Given the description of an element on the screen output the (x, y) to click on. 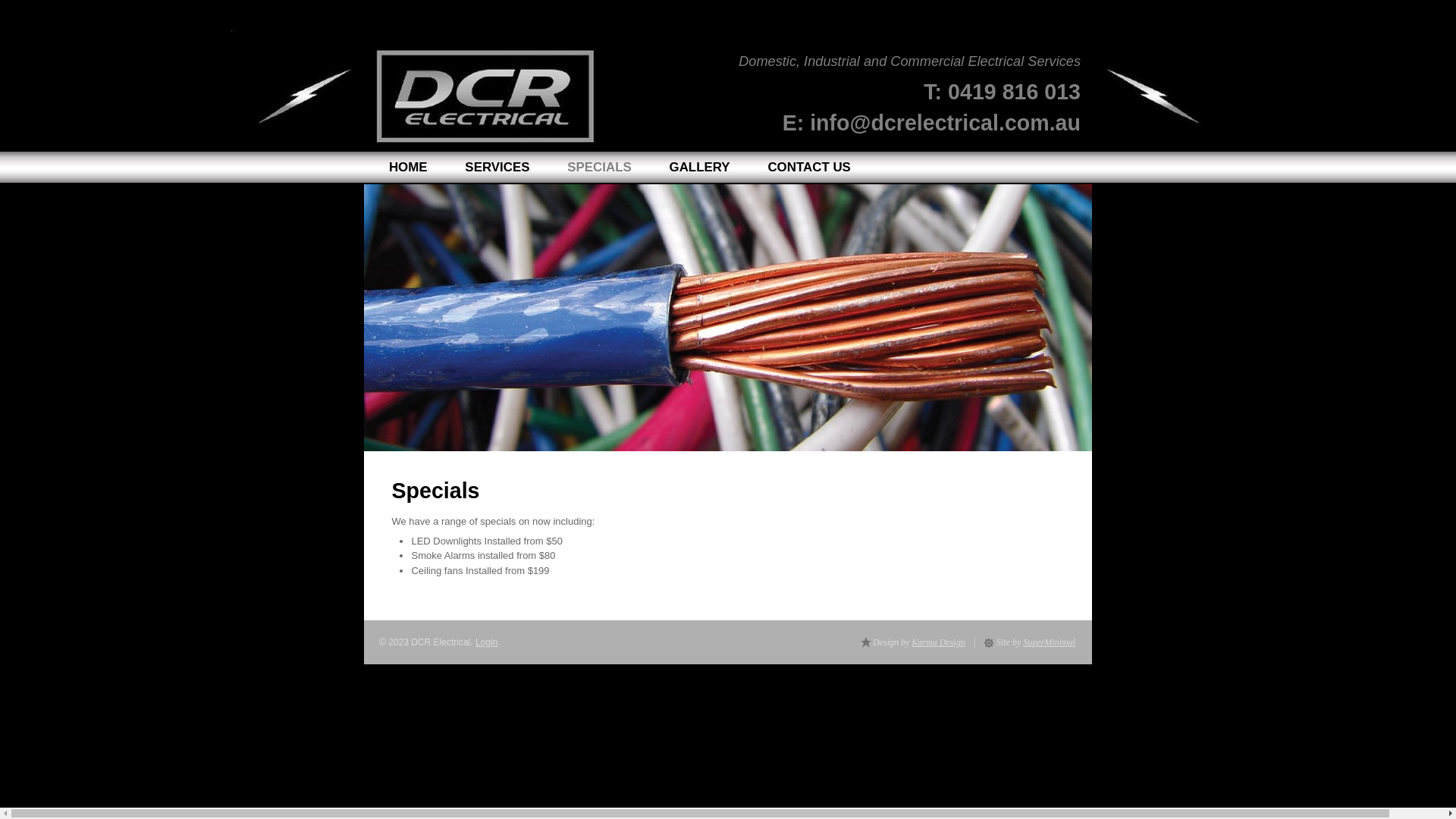
Login Element type: text (486, 642)
SPECIALS Element type: text (598, 166)
SERVICES Element type: text (496, 166)
Karma Design Element type: text (937, 642)
CONTACT US Element type: text (809, 166)
info@dcrelectrical.com.au Element type: text (944, 118)
GALLERY Element type: text (699, 166)
HOME Element type: text (407, 166)
SuperMinimal Element type: text (1048, 642)
